Given the description of an element on the screen output the (x, y) to click on. 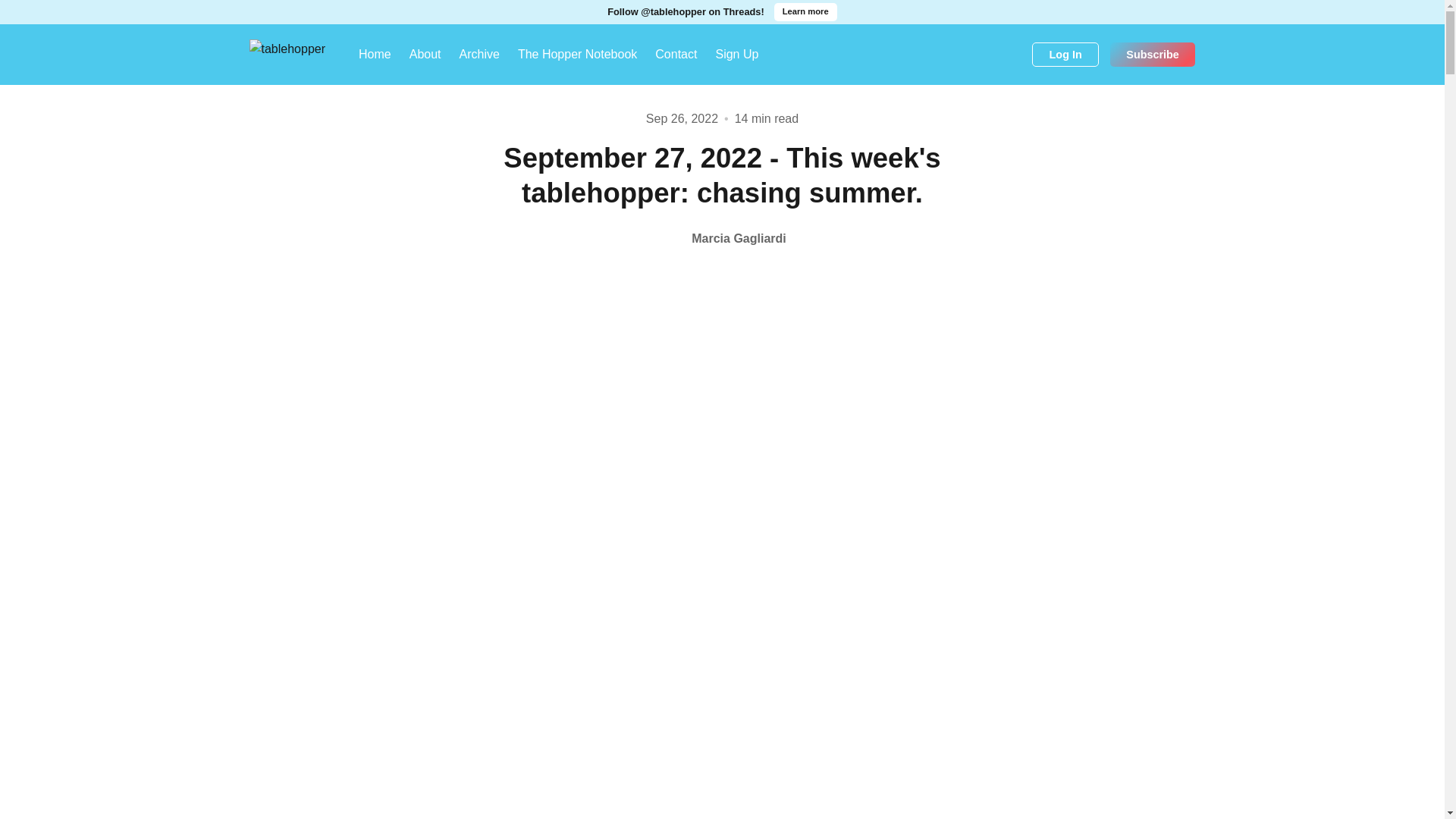
Marcia Gagliardi (722, 238)
Search (1014, 54)
Subscribe (1152, 54)
Log In (1065, 54)
Sign Up (736, 54)
Learn more (805, 12)
Archive (478, 54)
About (424, 54)
The Hopper Notebook (577, 54)
Contact (676, 54)
